Given the description of an element on the screen output the (x, y) to click on. 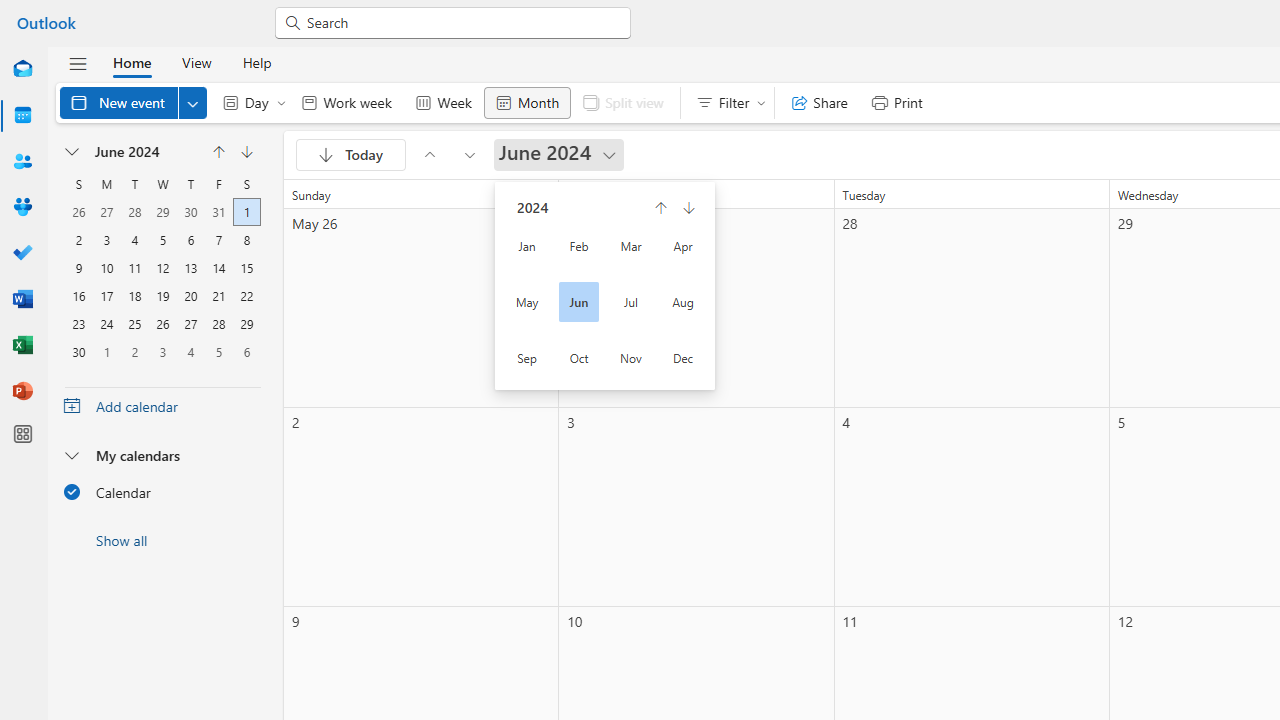
To Do (22, 254)
Sunday (79, 183)
1, June, 2024 (246, 210)
System (10, 11)
31, May, 2024 (218, 210)
4, July, 2024 (190, 350)
27, June, 2024 (190, 322)
People (22, 161)
Month (527, 102)
27, May, 2024 (106, 210)
Day (249, 102)
Filter (726, 102)
June 2024, select to change the month (144, 152)
30, June, 2024 (79, 350)
